Given the description of an element on the screen output the (x, y) to click on. 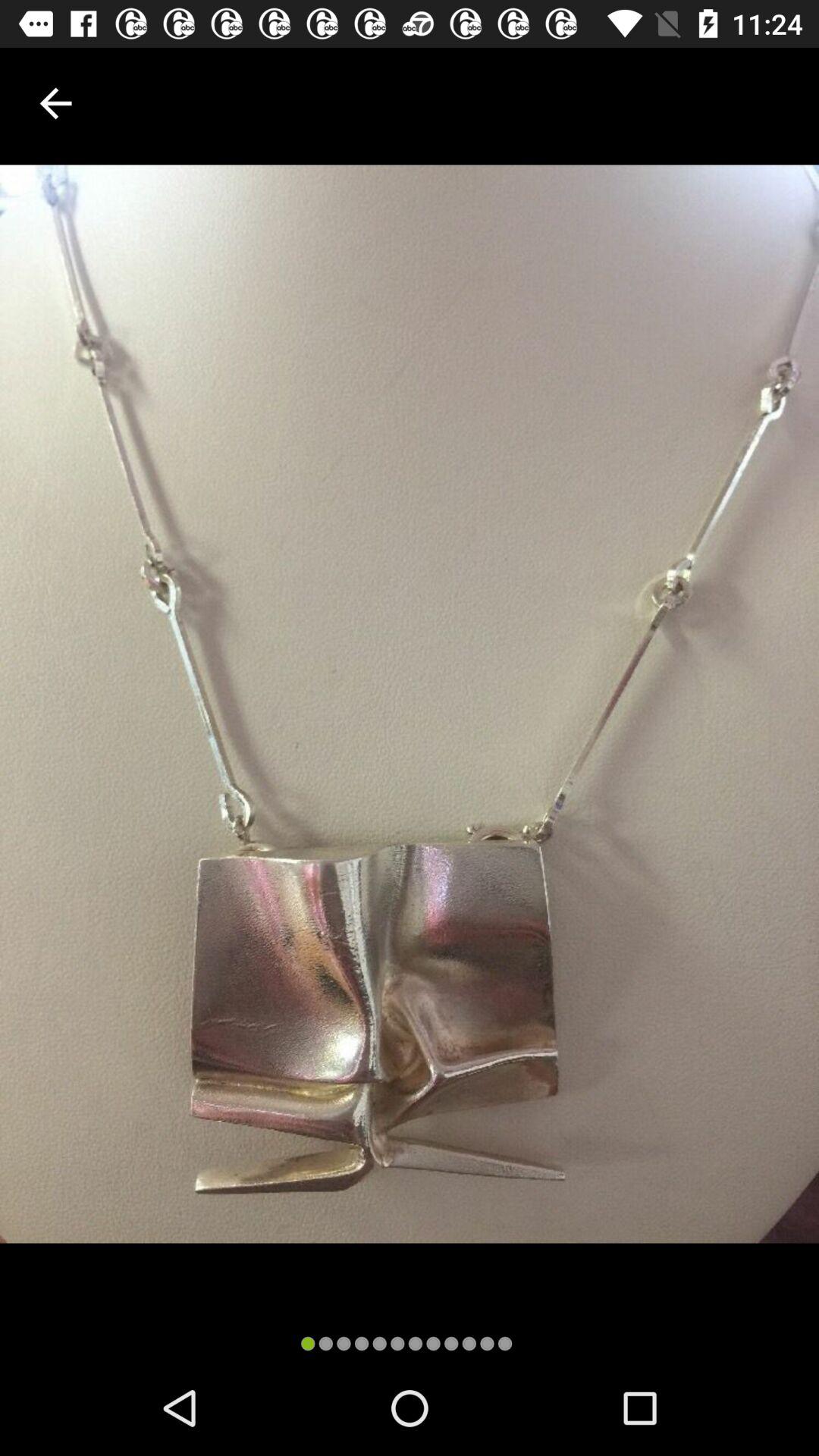
click the blinking box if you would like to go back to previous page (55, 103)
